Given the description of an element on the screen output the (x, y) to click on. 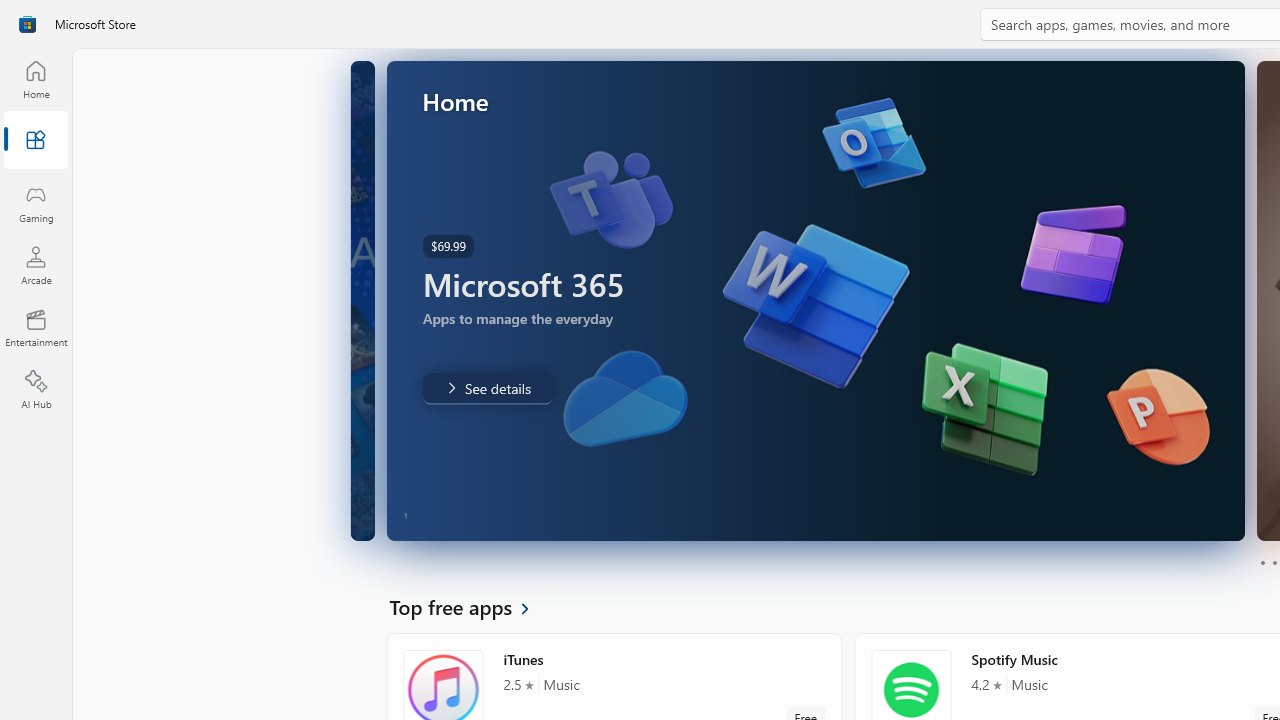
Page 1 (1261, 562)
Page 2 (1274, 562)
AutomationID: Image (872, 300)
See all  Top free apps (471, 606)
